Given the description of an element on the screen output the (x, y) to click on. 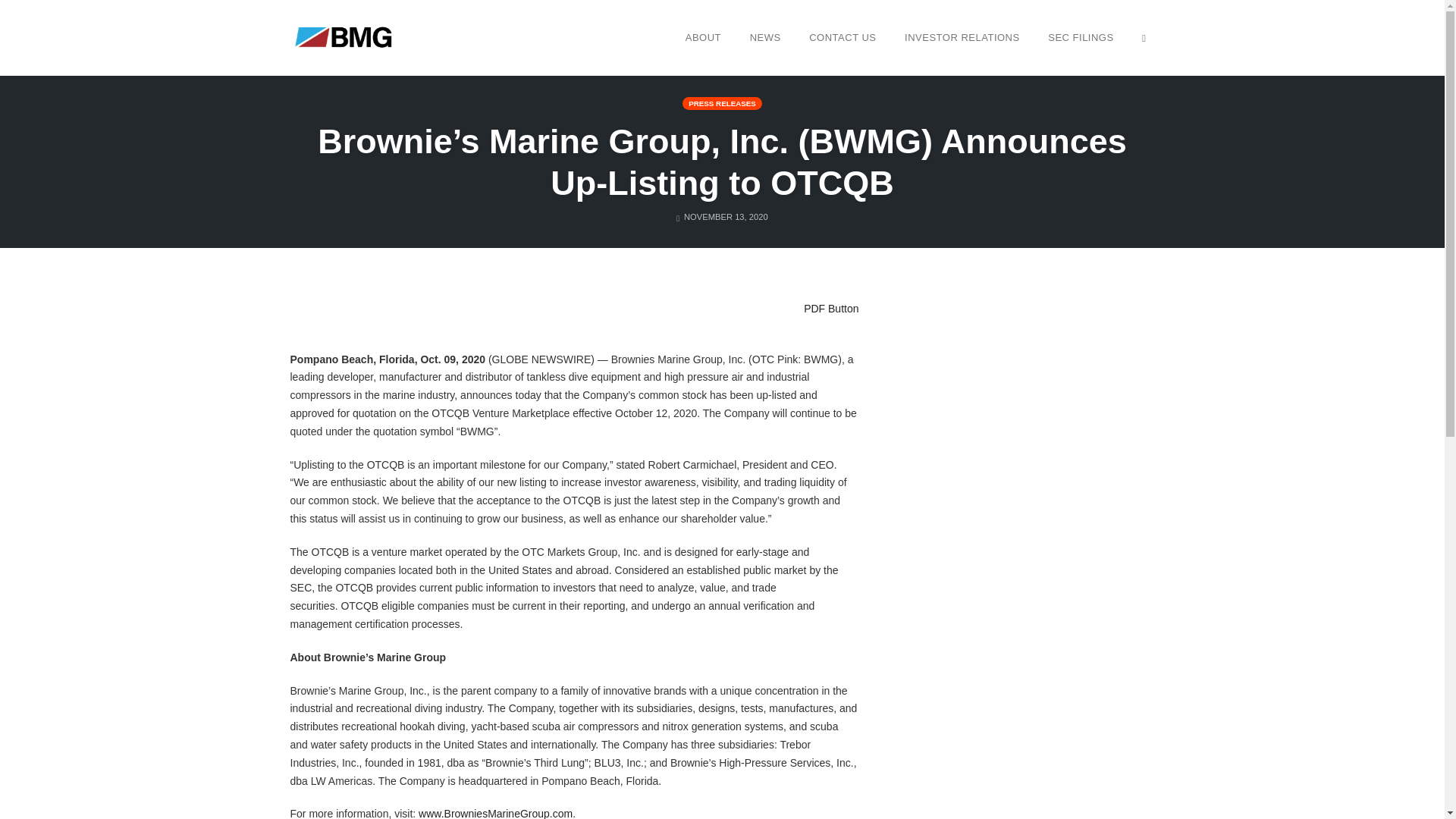
www.BrowniesMarineGroup.com (495, 813)
CONTACT US (841, 37)
NEWS (765, 37)
SEC FILINGS (1080, 37)
PRESS RELEASES (721, 103)
Brownie's Marine Group (345, 37)
OPEN SEARCH FORM (1144, 37)
ABOUT (703, 37)
INVESTOR RELATIONS (961, 37)
PDF Button (829, 307)
